Given the description of an element on the screen output the (x, y) to click on. 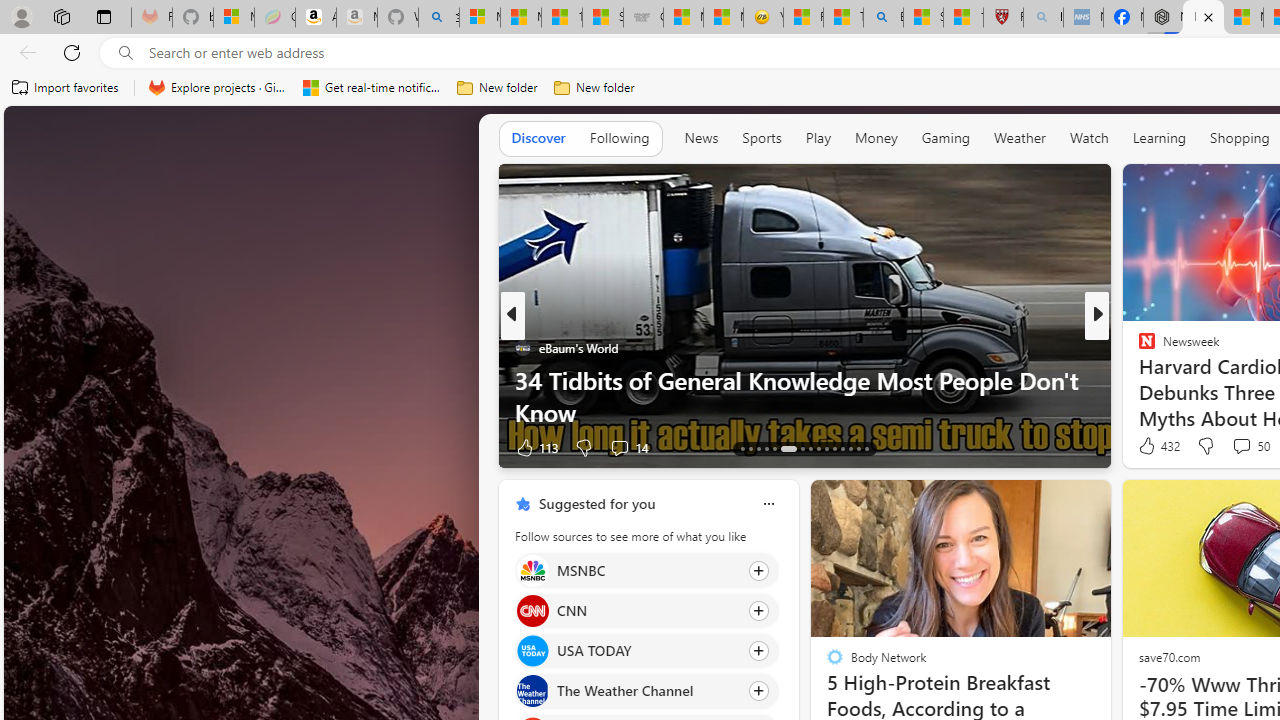
Start the conversation (1222, 447)
New folder (594, 88)
Class: icon-img (768, 503)
USA TODAY (532, 651)
Bored Panda (1138, 380)
AutomationID: tab-80 (857, 448)
View comments 104 Comment (1247, 447)
Science - MSN (923, 17)
Suggested for you (596, 503)
